Given the description of an element on the screen output the (x, y) to click on. 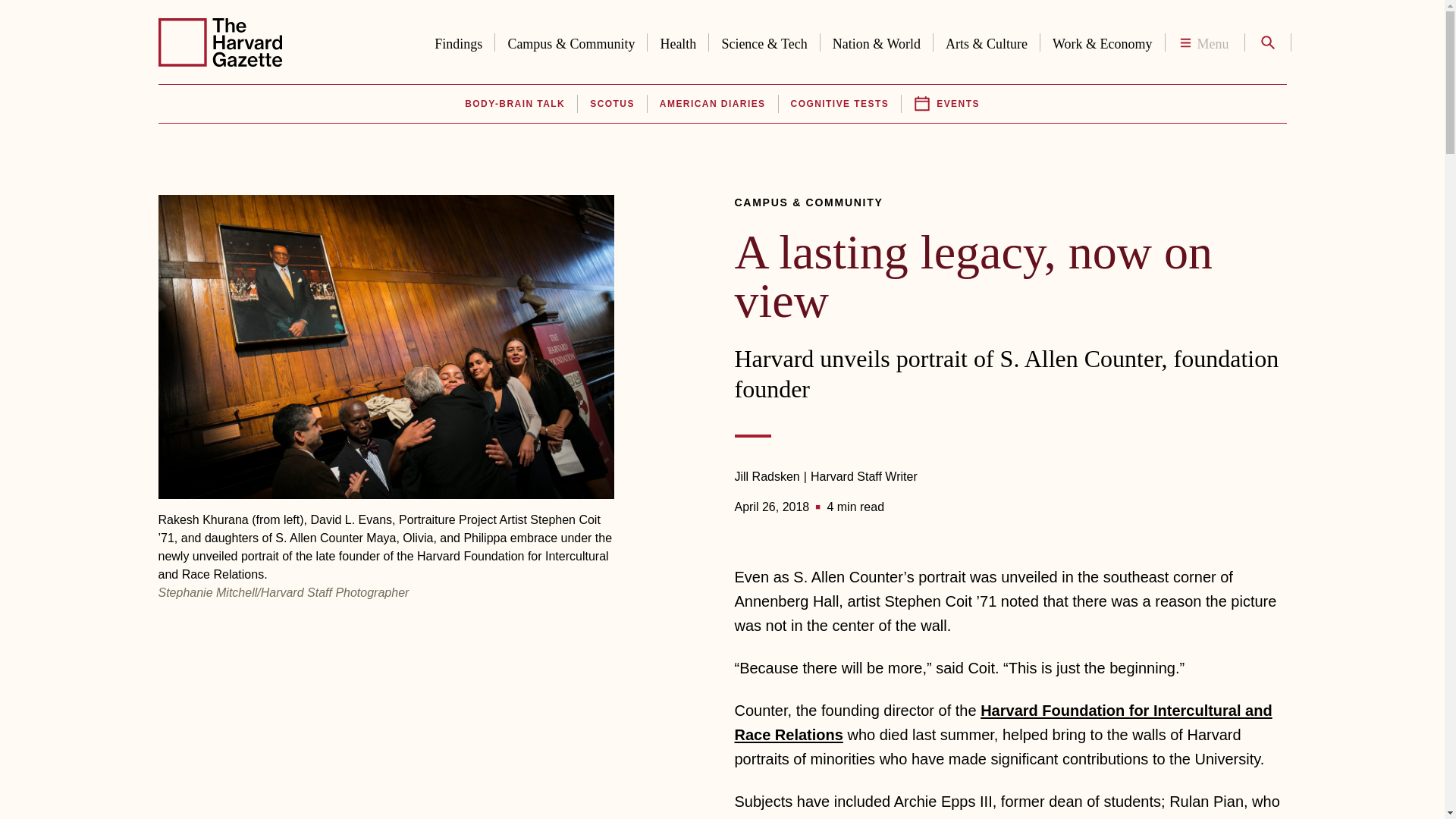
Menu (1204, 42)
Health (677, 41)
Findings (457, 41)
SCOTUS (612, 103)
Search (1266, 42)
BODY-BRAIN TALK (514, 103)
